Given the description of an element on the screen output the (x, y) to click on. 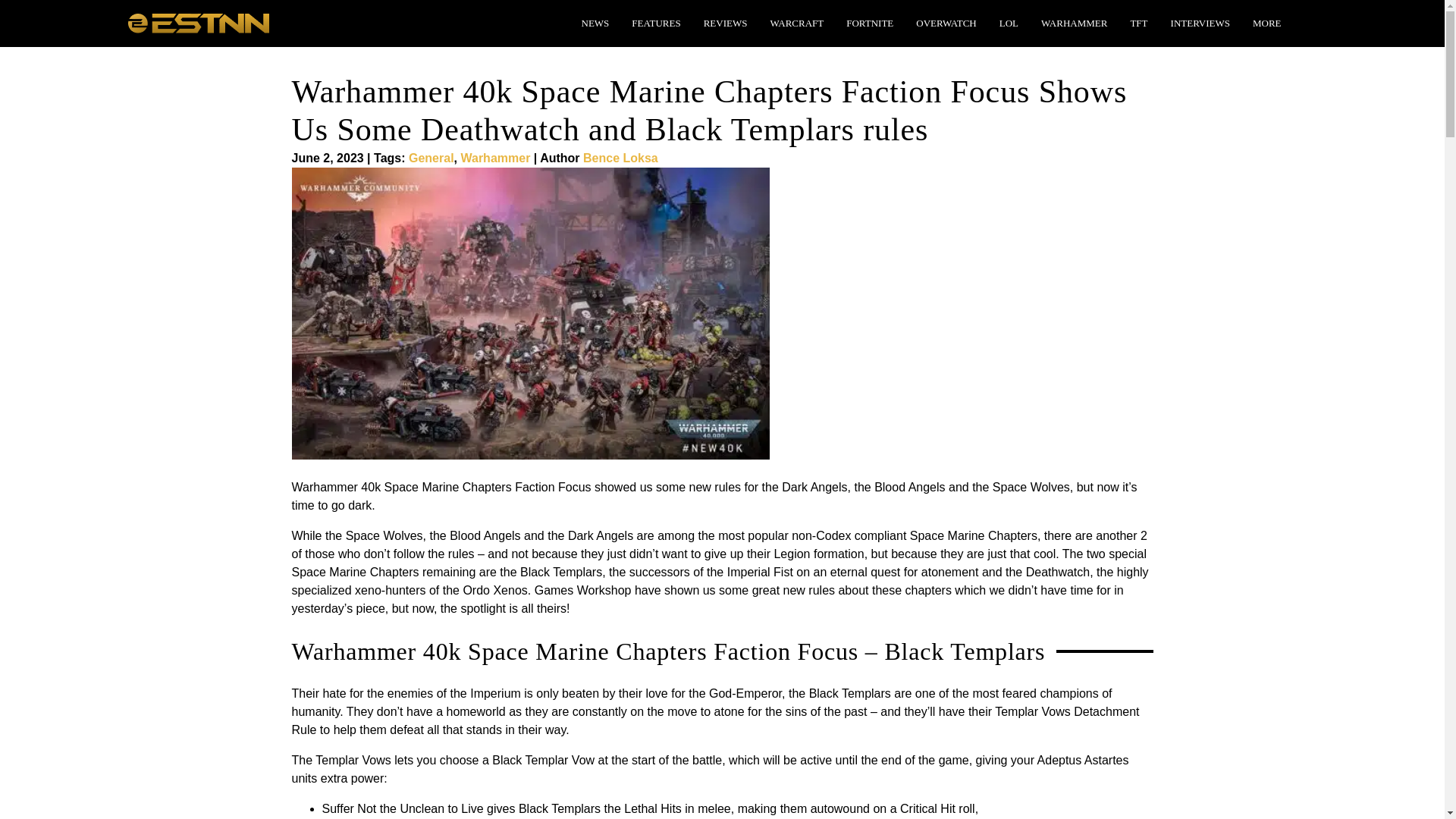
NEWS (594, 23)
FORTNITE (869, 23)
WARCRAFT (796, 23)
Home (197, 21)
Bence Loksa (620, 157)
TFT (1138, 23)
FEATURES (655, 23)
Posts by Bence Loksa (620, 157)
WARHAMMER (1074, 23)
General (431, 157)
